Given the description of an element on the screen output the (x, y) to click on. 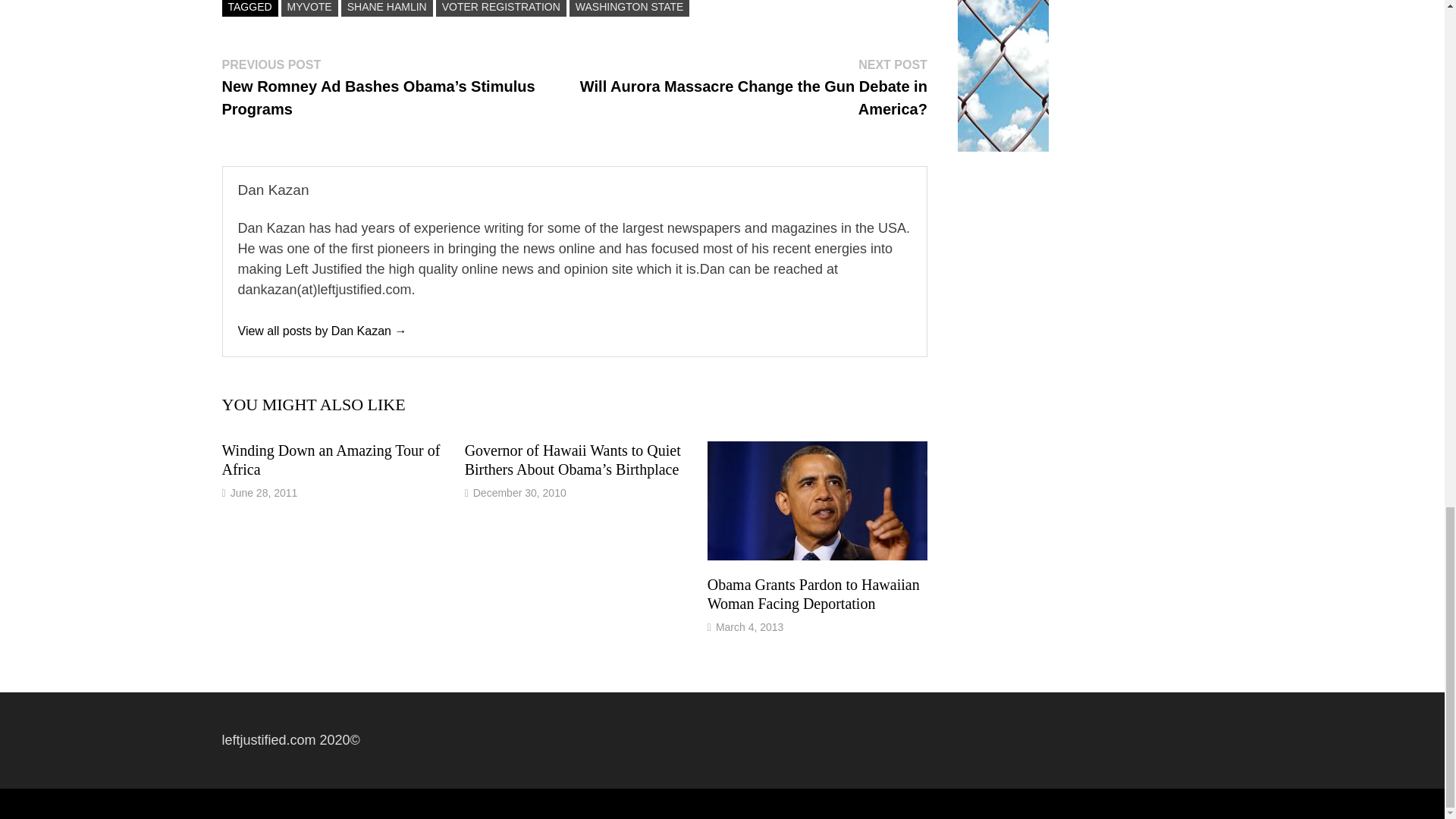
Winding Down an Amazing Tour of Africa (330, 459)
December 30, 2010 (519, 492)
Dan Kazan (322, 330)
June 28, 2011 (264, 492)
MYVOTE (309, 8)
Obama Grants Pardon to Hawaiian Woman Facing Deportation (813, 593)
Obama Grants Pardon to Hawaiian Woman Facing Deportation (813, 593)
Winding Down an Amazing Tour of Africa (330, 459)
March 4, 2013 (750, 626)
VOTER REGISTRATION (500, 8)
WASHINGTON STATE (629, 8)
SHANE HAMLIN (386, 8)
